Given the description of an element on the screen output the (x, y) to click on. 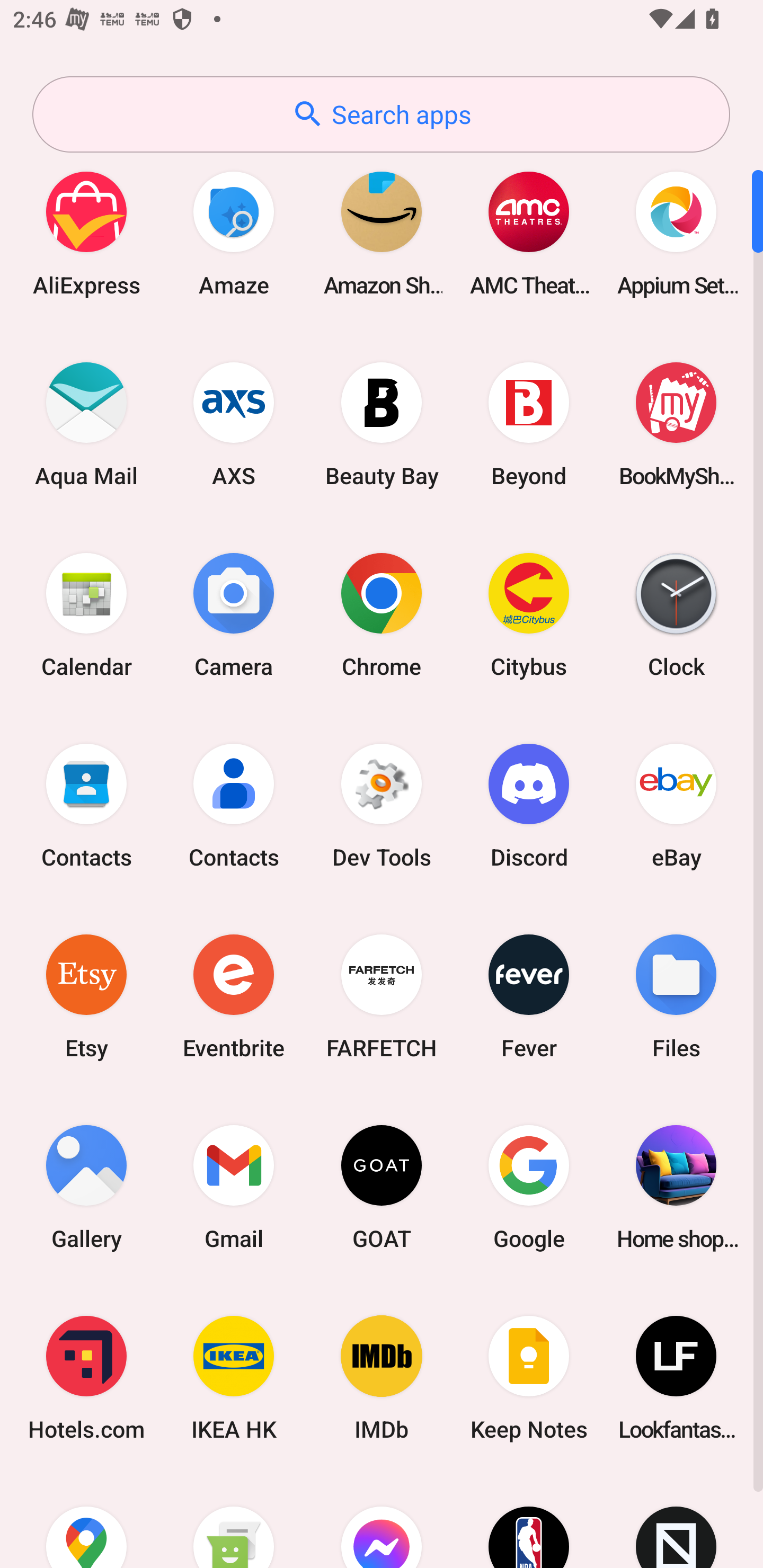
  Search apps (381, 114)
AliExpress (86, 233)
Amaze (233, 233)
Amazon Shopping (381, 233)
AMC Theatres (528, 233)
Appium Settings (676, 233)
Aqua Mail (86, 424)
AXS (233, 424)
Beauty Bay (381, 424)
Beyond (528, 424)
BookMyShow (676, 424)
Calendar (86, 614)
Camera (233, 614)
Chrome (381, 614)
Citybus (528, 614)
Clock (676, 614)
Contacts (86, 805)
Contacts (233, 805)
Dev Tools (381, 805)
Discord (528, 805)
eBay (676, 805)
Etsy (86, 996)
Eventbrite (233, 996)
FARFETCH (381, 996)
Fever (528, 996)
Files (676, 996)
Gallery (86, 1186)
Gmail (233, 1186)
GOAT (381, 1186)
Google (528, 1186)
Home shopping (676, 1186)
Hotels.com (86, 1377)
IKEA HK (233, 1377)
IMDb (381, 1377)
Keep Notes (528, 1377)
Lookfantastic (676, 1377)
